Given the description of an element on the screen output the (x, y) to click on. 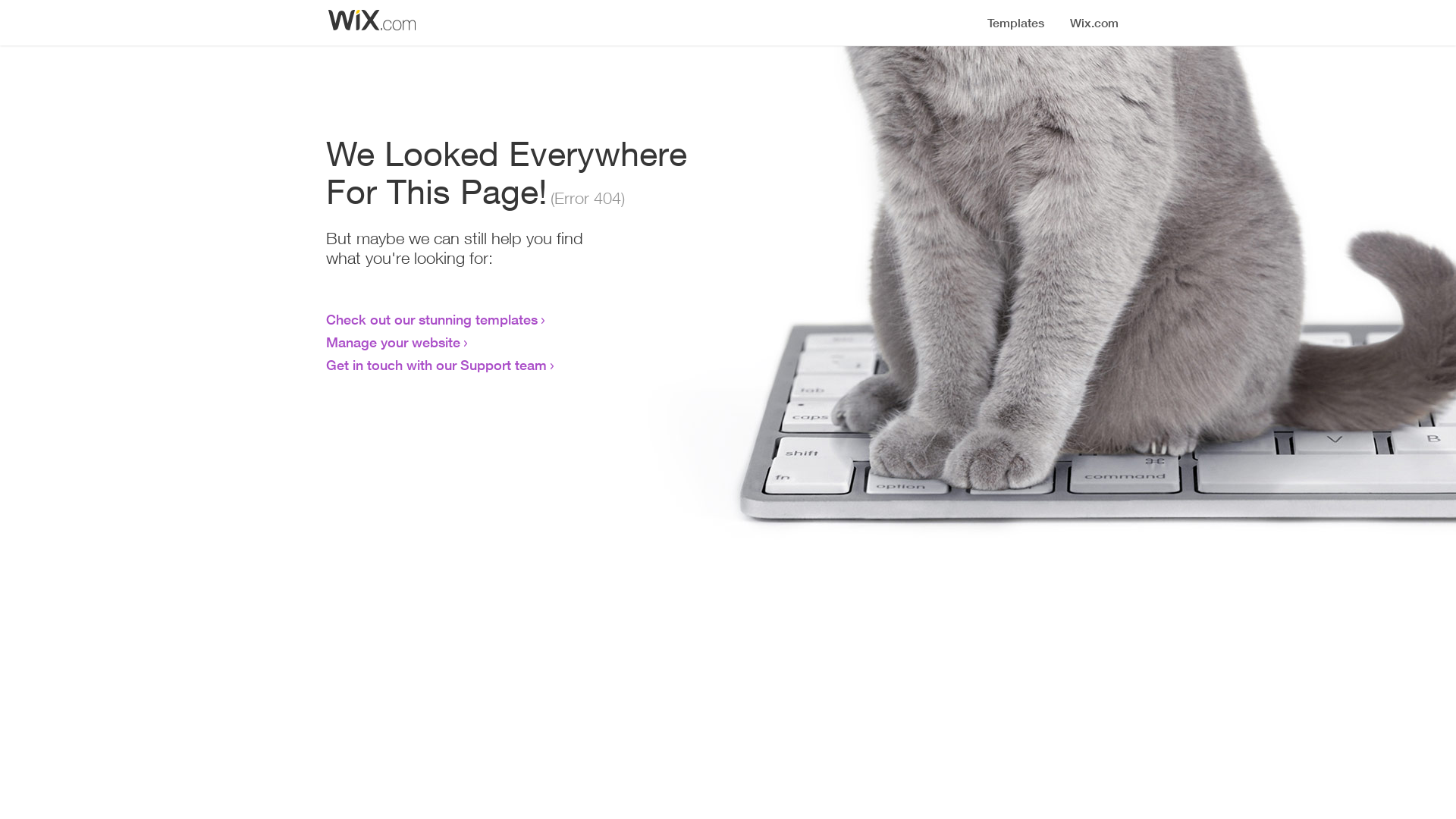
Manage your website Element type: text (393, 341)
Get in touch with our Support team Element type: text (436, 364)
Check out our stunning templates Element type: text (431, 318)
